Given the description of an element on the screen output the (x, y) to click on. 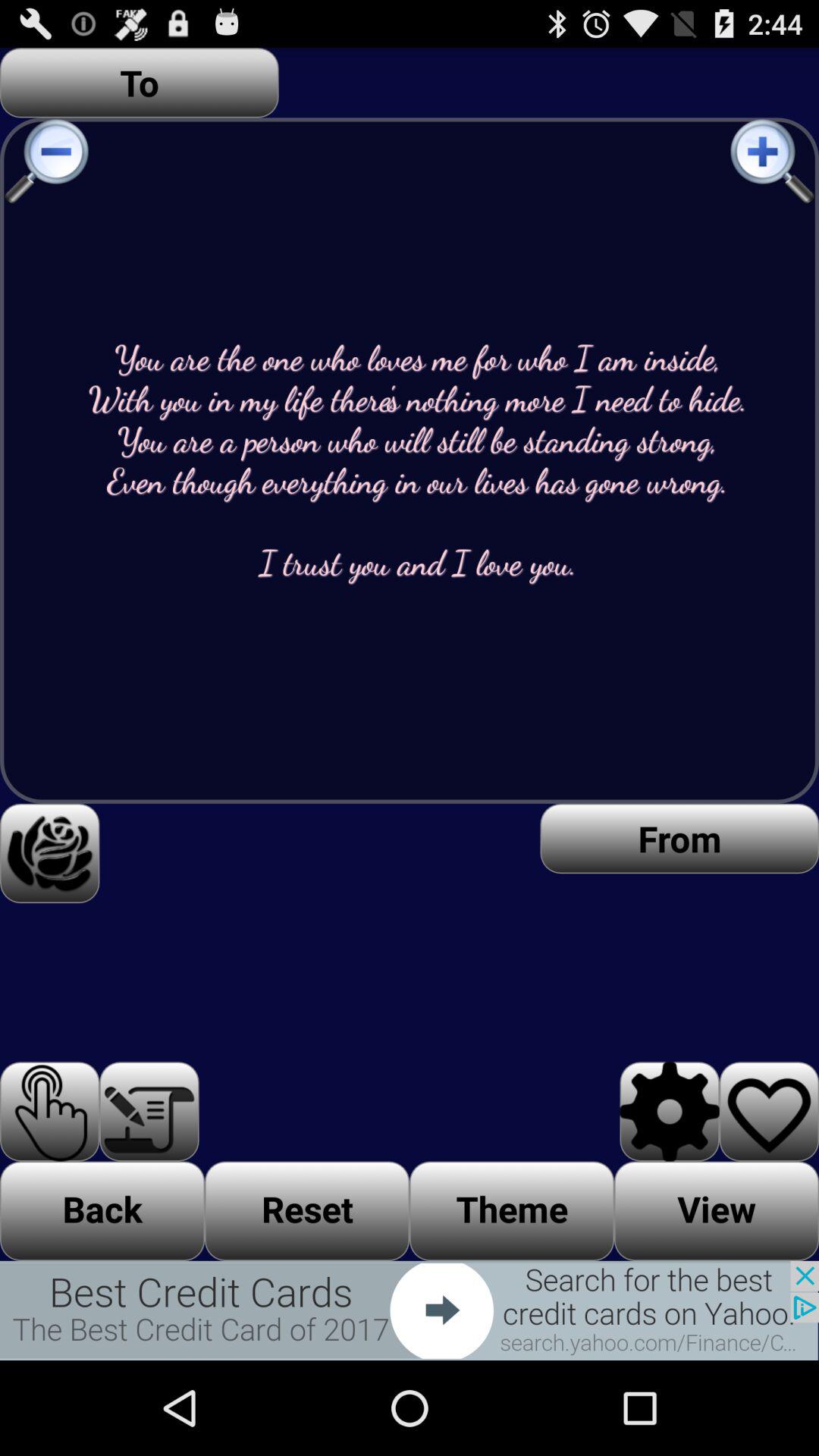
the button is next buttons (409, 1310)
